Given the description of an element on the screen output the (x, y) to click on. 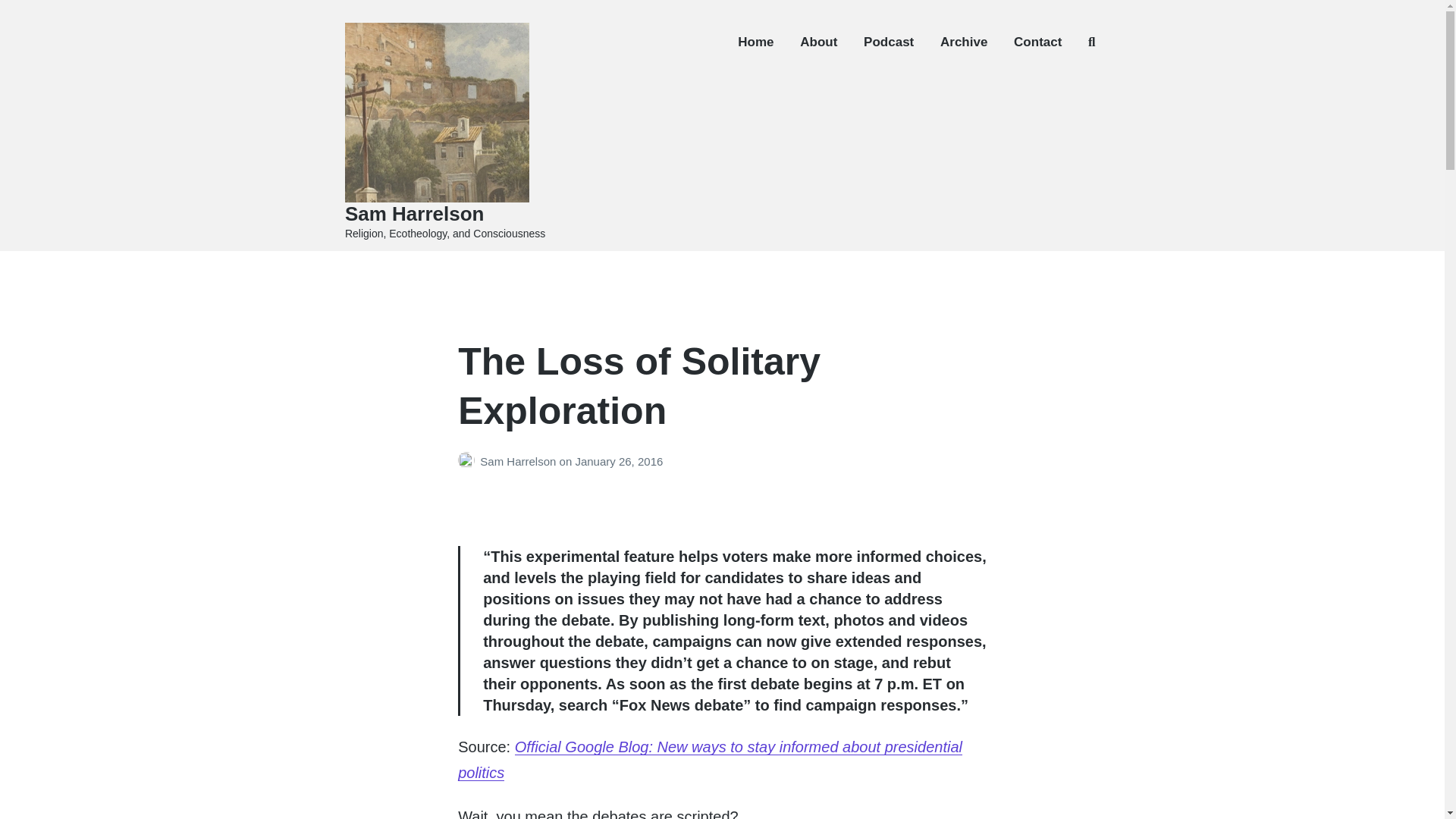
Sam Harrelson (414, 213)
Podcast (888, 42)
Posts by Sam Harrelson (469, 461)
Sam Harrelson (519, 461)
Contact (1037, 42)
Home (755, 42)
Archive (963, 42)
About (818, 42)
